Given the description of an element on the screen output the (x, y) to click on. 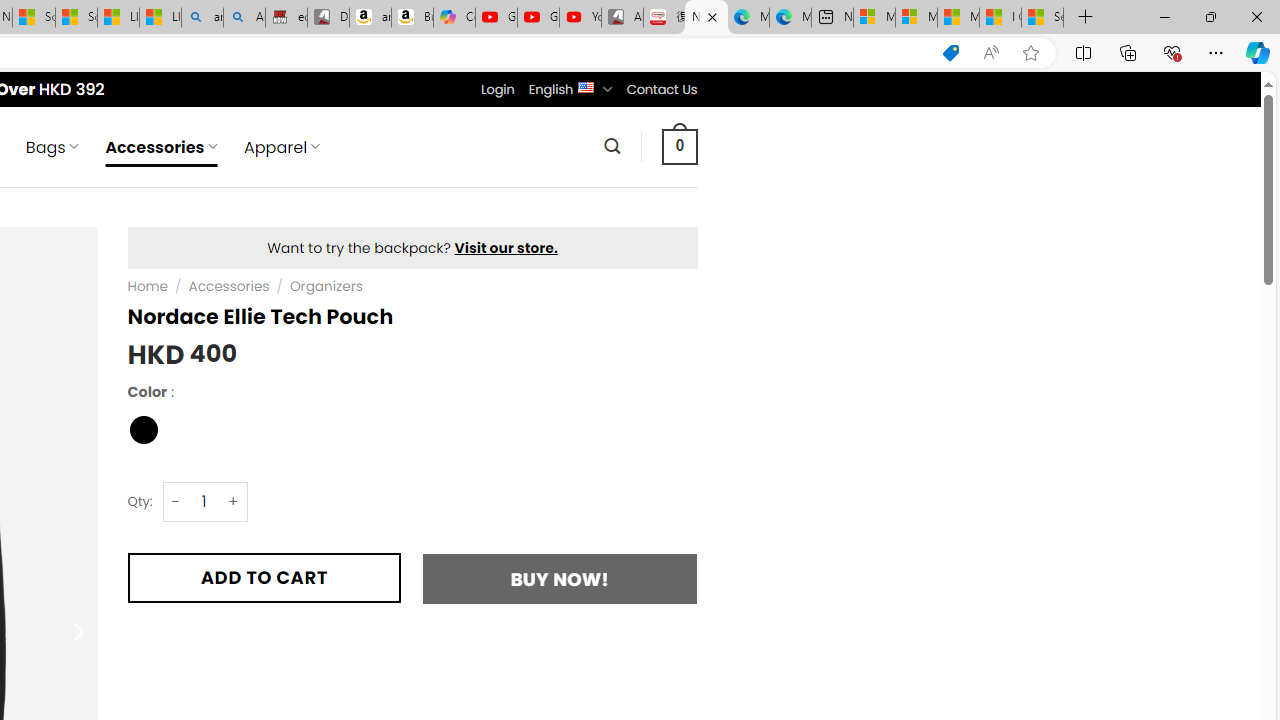
Nordace Ellie Tech Pouch quantity (204, 501)
Organizers (326, 286)
amazon.in/dp/B0CX59H5W7/?tag=gsmcom05-21 (369, 17)
I Gained 20 Pounds of Muscle in 30 Days! | Watch (1000, 17)
